Given the description of an element on the screen output the (x, y) to click on. 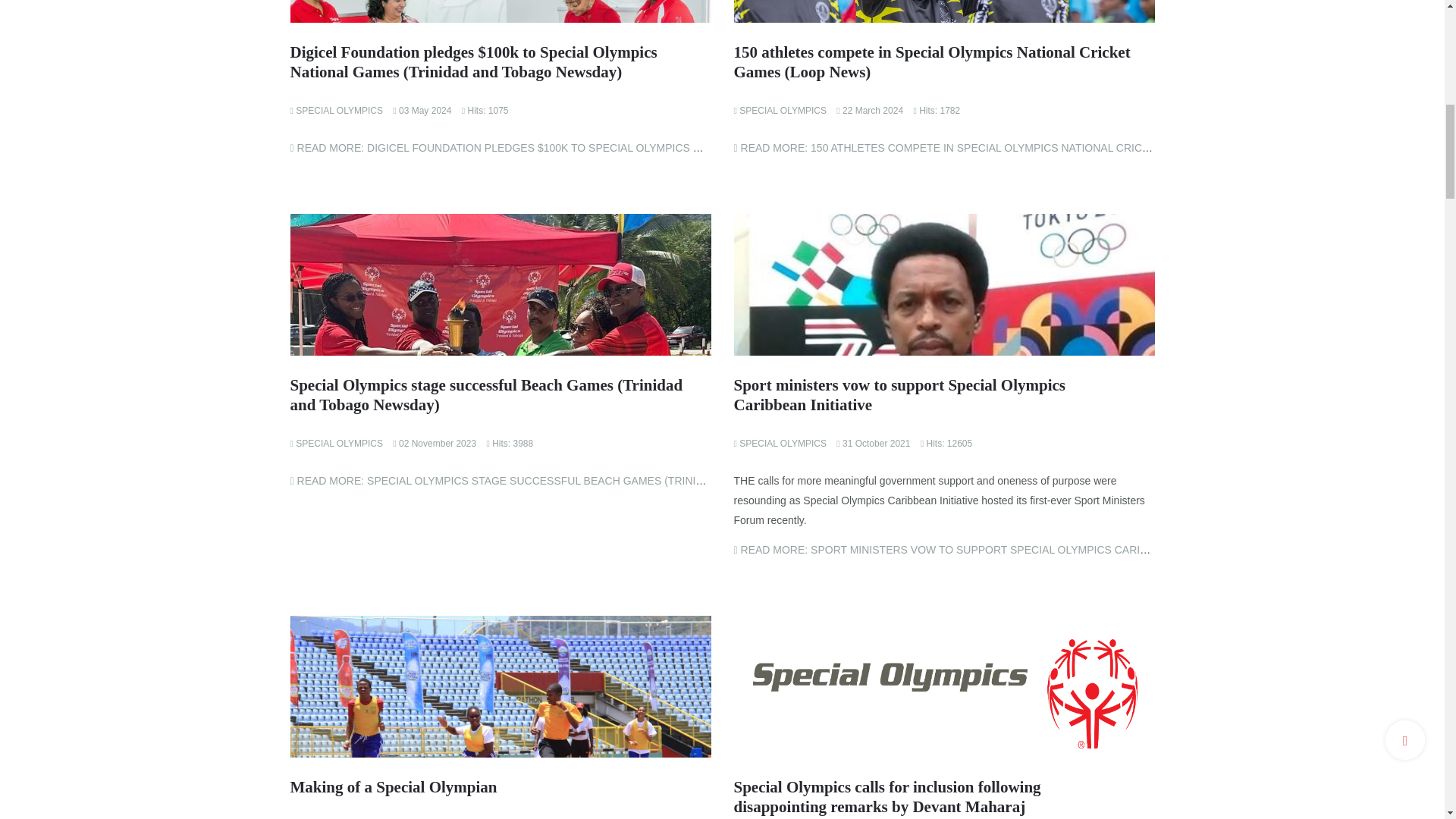
Published:  (422, 109)
Category:  (335, 109)
